Given the description of an element on the screen output the (x, y) to click on. 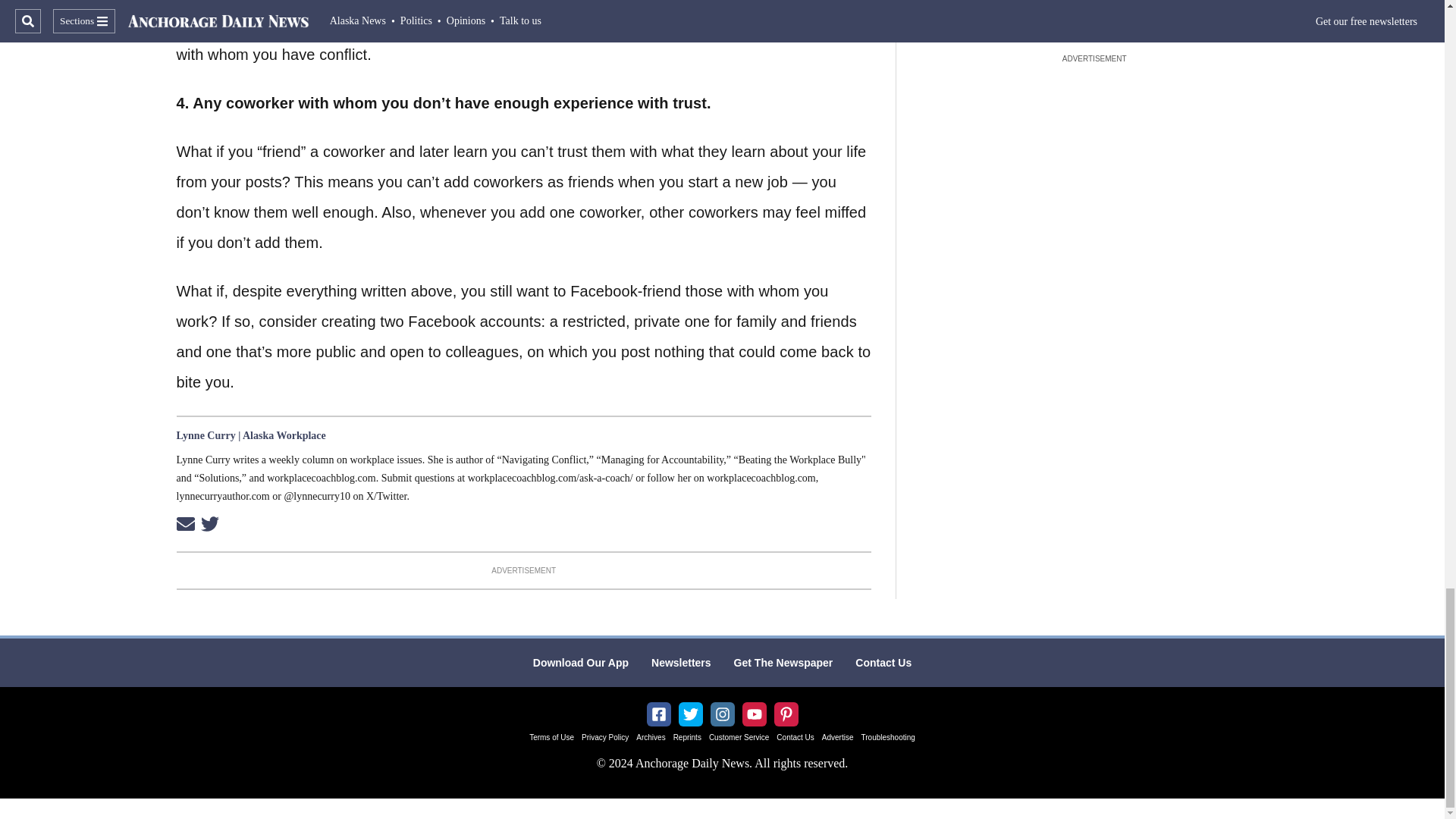
PinterestAnchorage Daily News Pinterest Account (785, 713)
YouTube iconAnchorage Daily News YouTube channel (753, 713)
Instagram IconAnchorage Daily News instagram account (721, 713)
Facebook IconAnchorage Daily News Facebook Page (657, 713)
Twitter IconTwitter Account for Anchorage Daily News (689, 713)
